Given the description of an element on the screen output the (x, y) to click on. 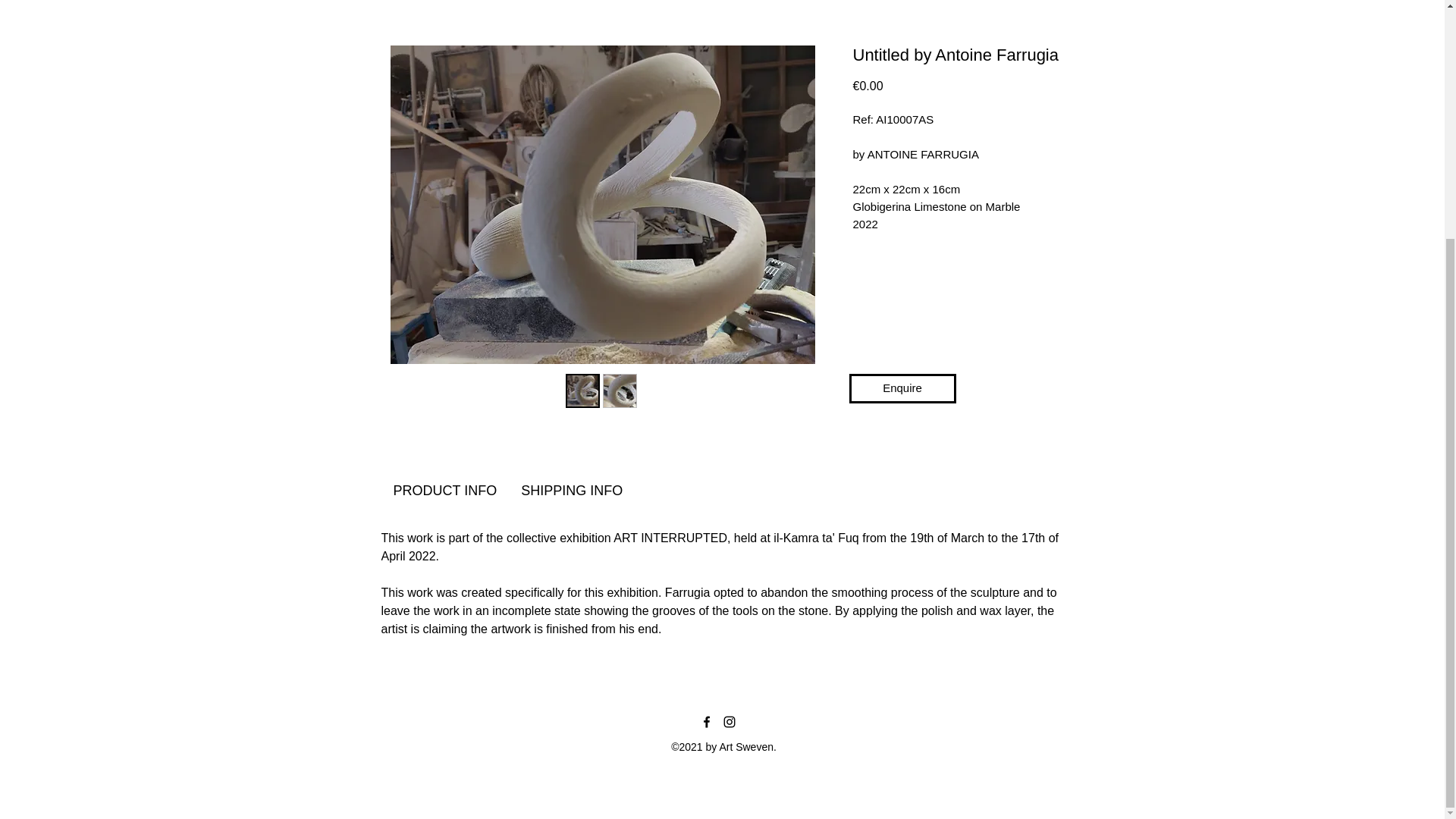
Use right and left arrows to navigate between tabs (443, 490)
Use right and left arrows to navigate between tabs (572, 490)
Enquire (902, 388)
